Given the description of an element on the screen output the (x, y) to click on. 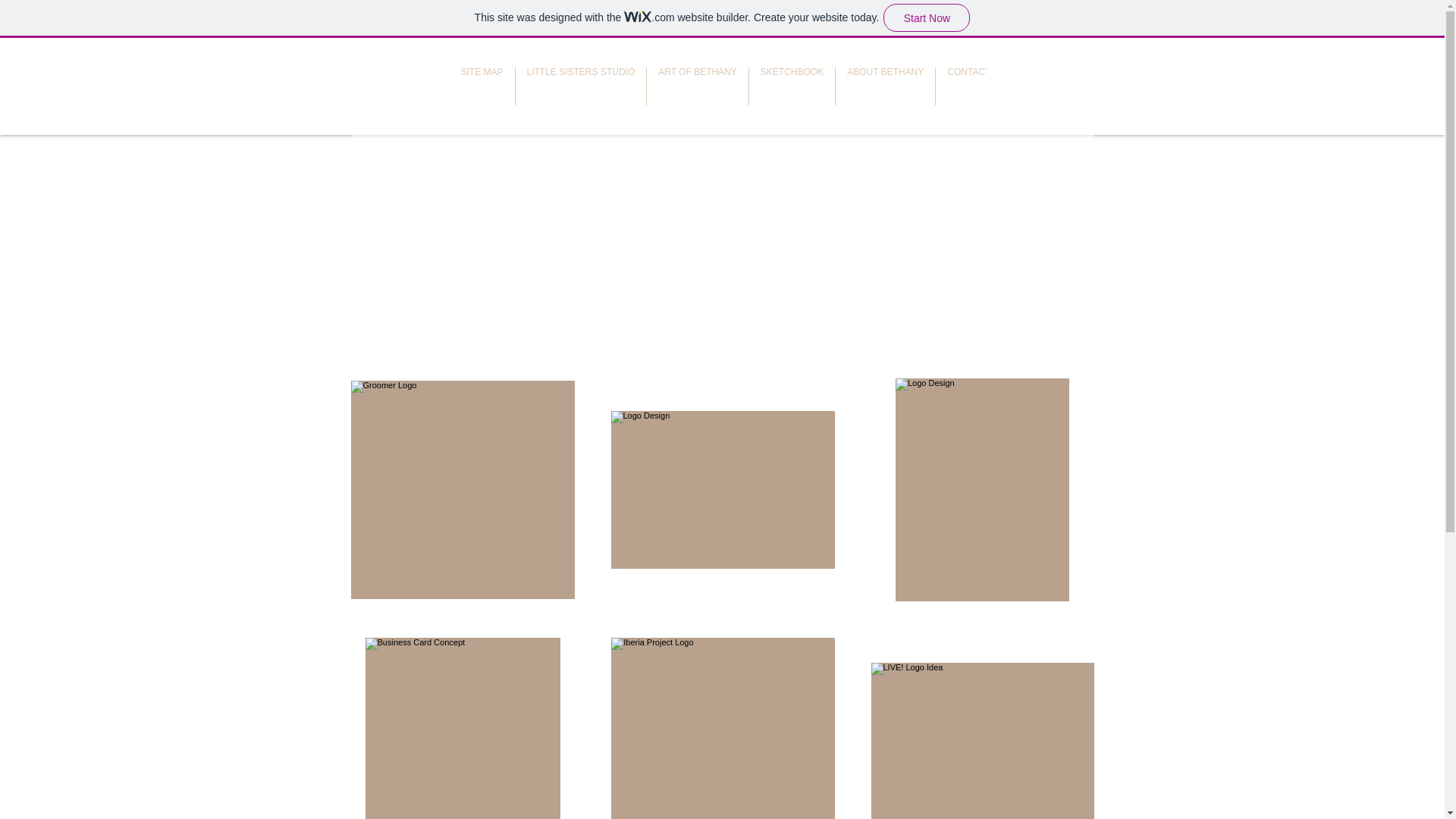
SKETCHBOOK (791, 86)
LITTLE SISTERS STUDIO (580, 86)
ABOUT BETHANY (884, 86)
ART OF BETHANY (697, 86)
CONTACT (968, 86)
SITE MAP (480, 86)
